Given the description of an element on the screen output the (x, y) to click on. 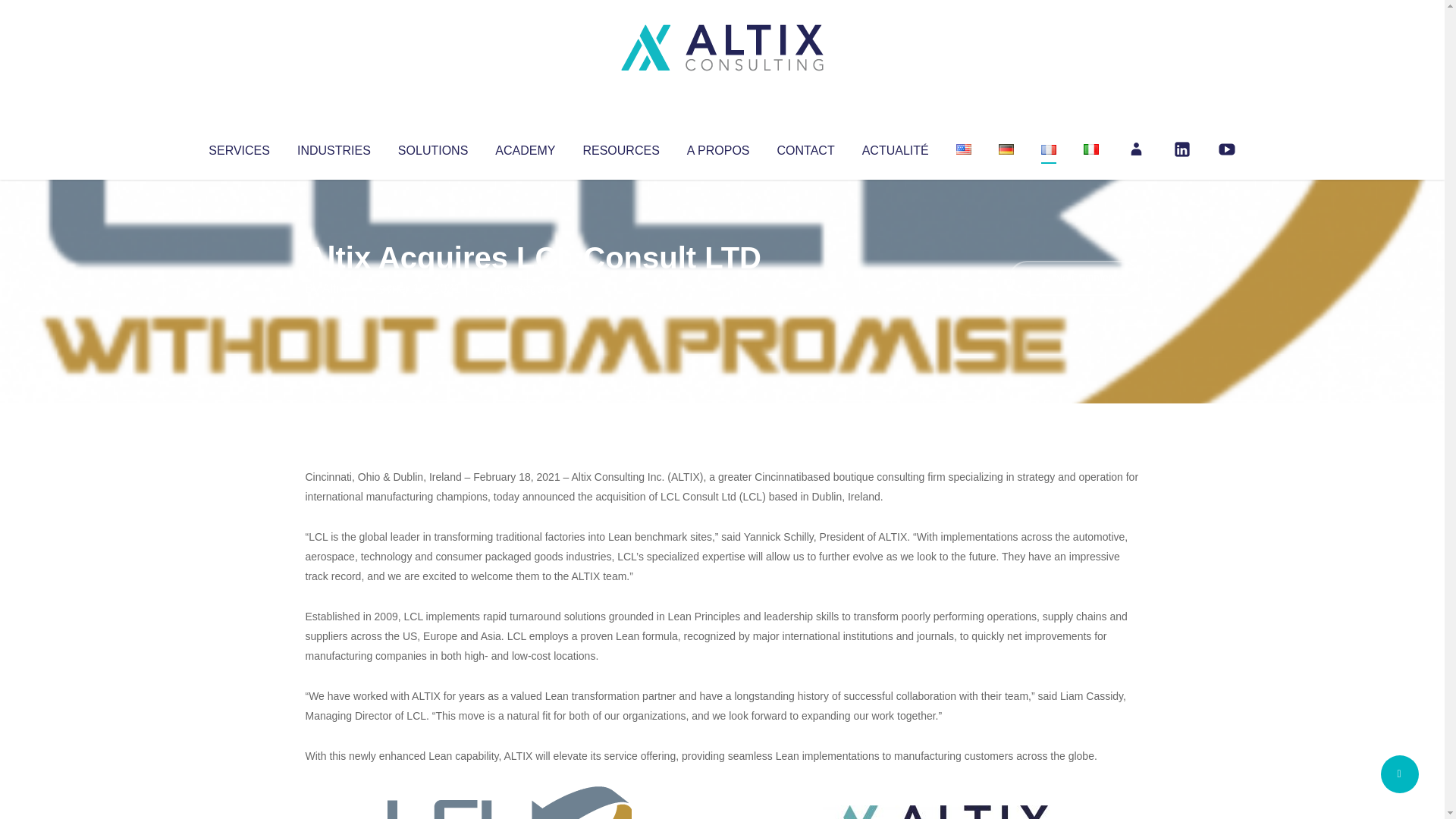
A PROPOS (718, 146)
SERVICES (238, 146)
Uncategorized (530, 287)
SOLUTIONS (432, 146)
Altix (333, 287)
No Comments (1073, 278)
ACADEMY (524, 146)
Articles par Altix (333, 287)
RESOURCES (620, 146)
INDUSTRIES (334, 146)
